Given the description of an element on the screen output the (x, y) to click on. 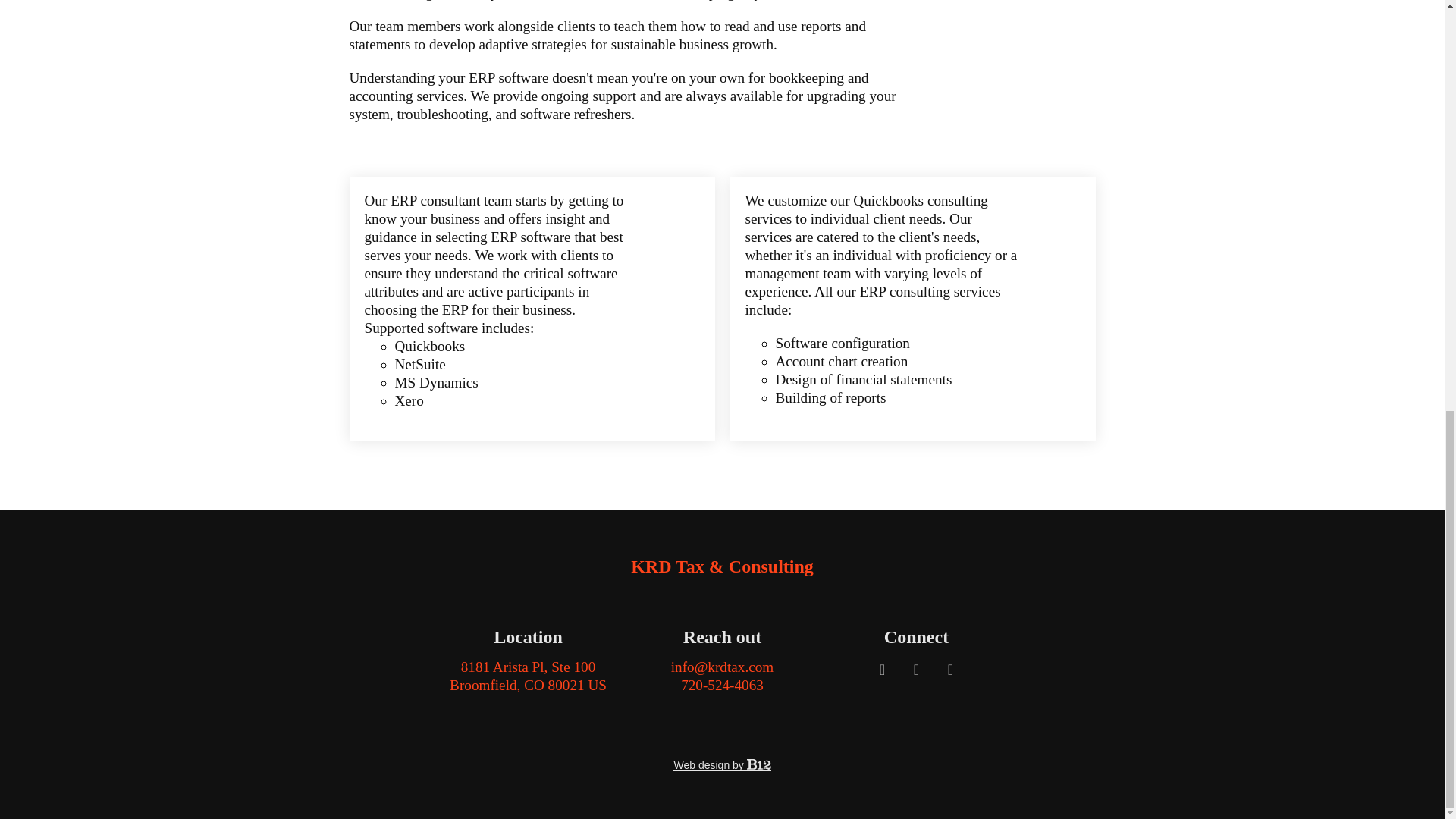
720-524-4063 (721, 684)
Web design by (721, 765)
